Given the description of an element on the screen output the (x, y) to click on. 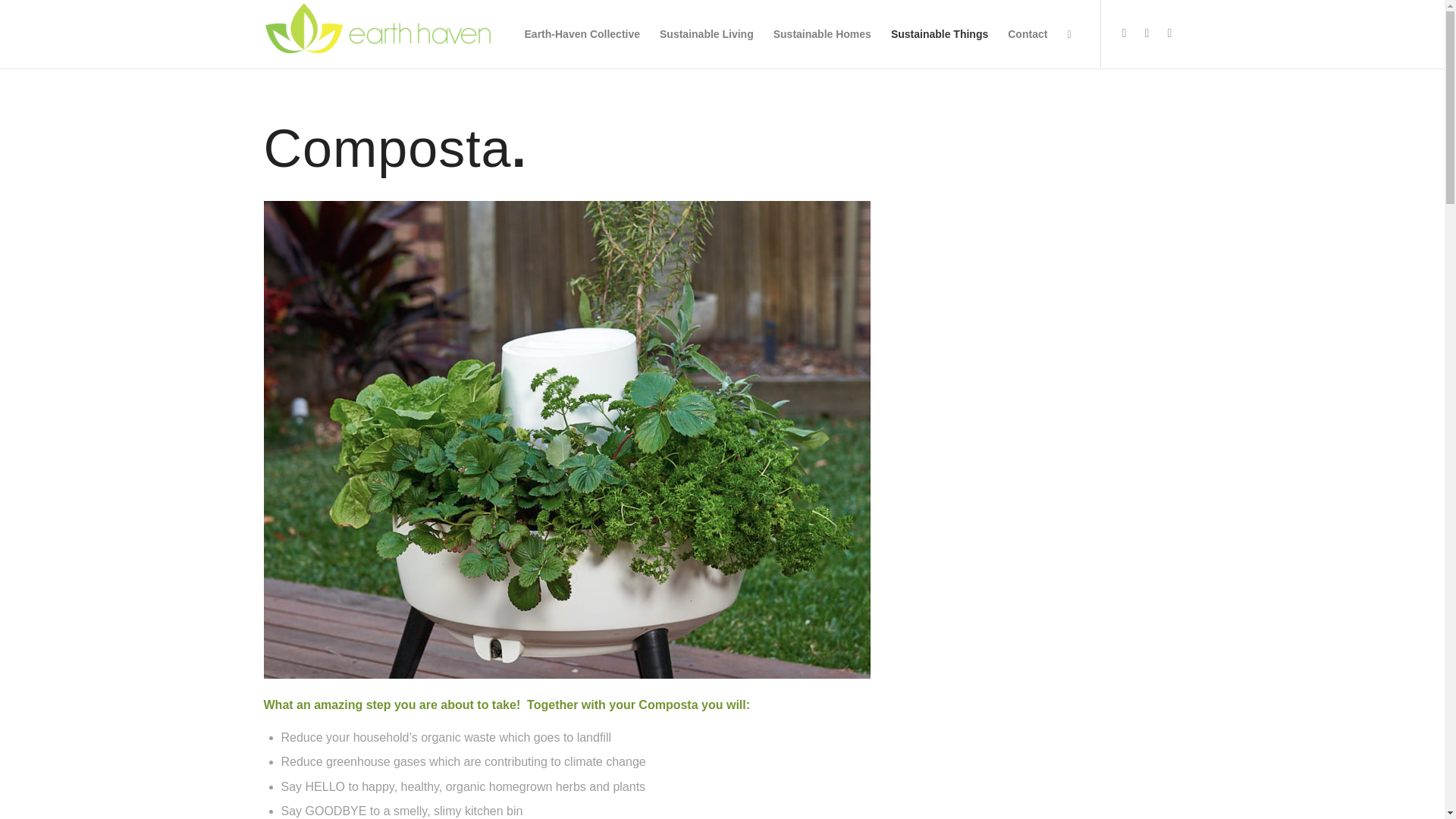
Instagram (1146, 33)
Earth-Haven Collective (582, 33)
Facebook (1124, 33)
Sustainable Living (705, 33)
LinkedIn (1169, 33)
